Given the description of an element on the screen output the (x, y) to click on. 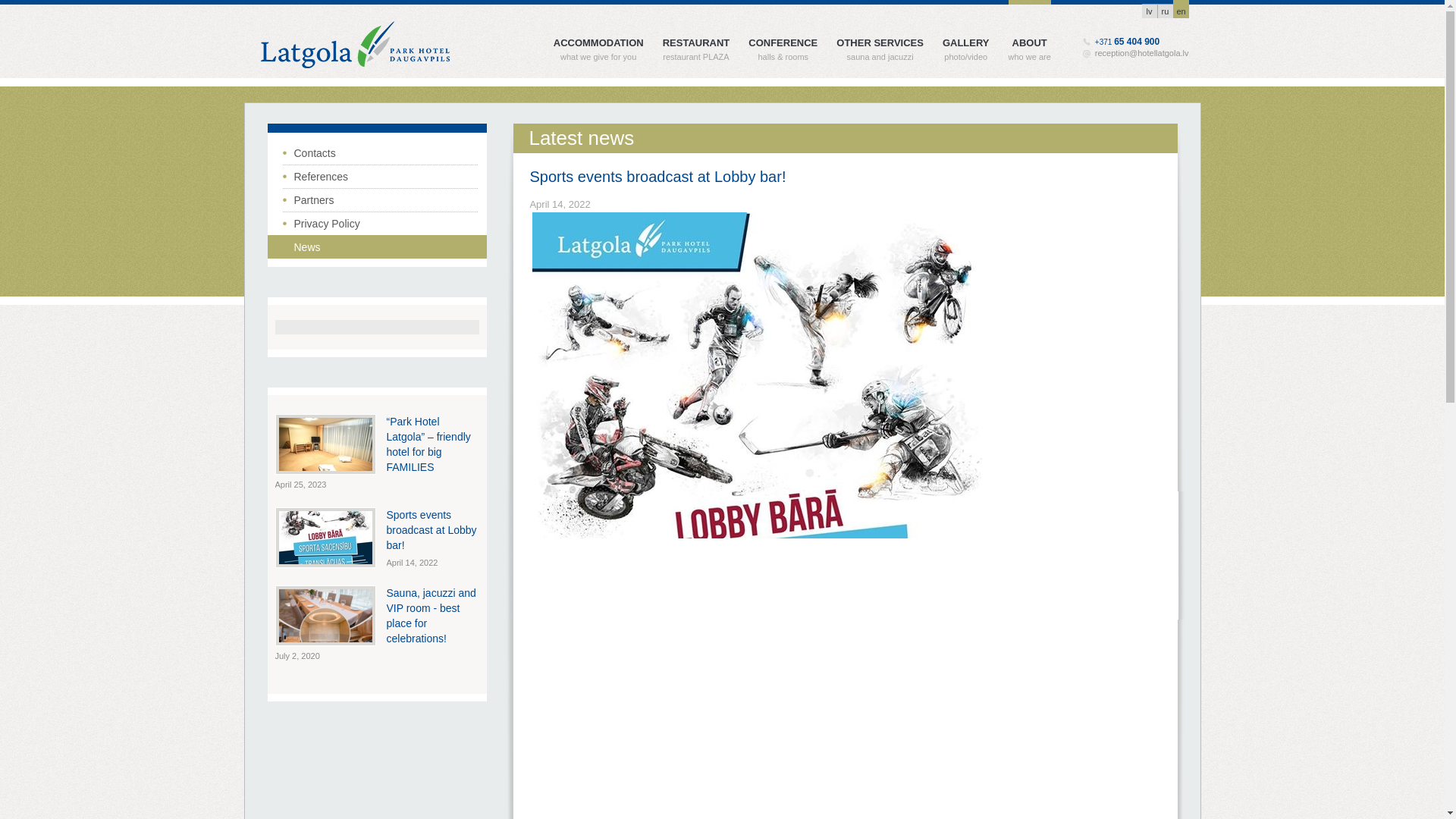
News (379, 246)
Sauna, jacuzzi and VIP room - best place for celebrations! (431, 615)
References (379, 176)
Contacts (379, 152)
Privacy Policy (379, 223)
Sports events broadcast at Lobby bar! (432, 529)
ru (1165, 11)
lv (1149, 11)
Partners (379, 199)
